Given the description of an element on the screen output the (x, y) to click on. 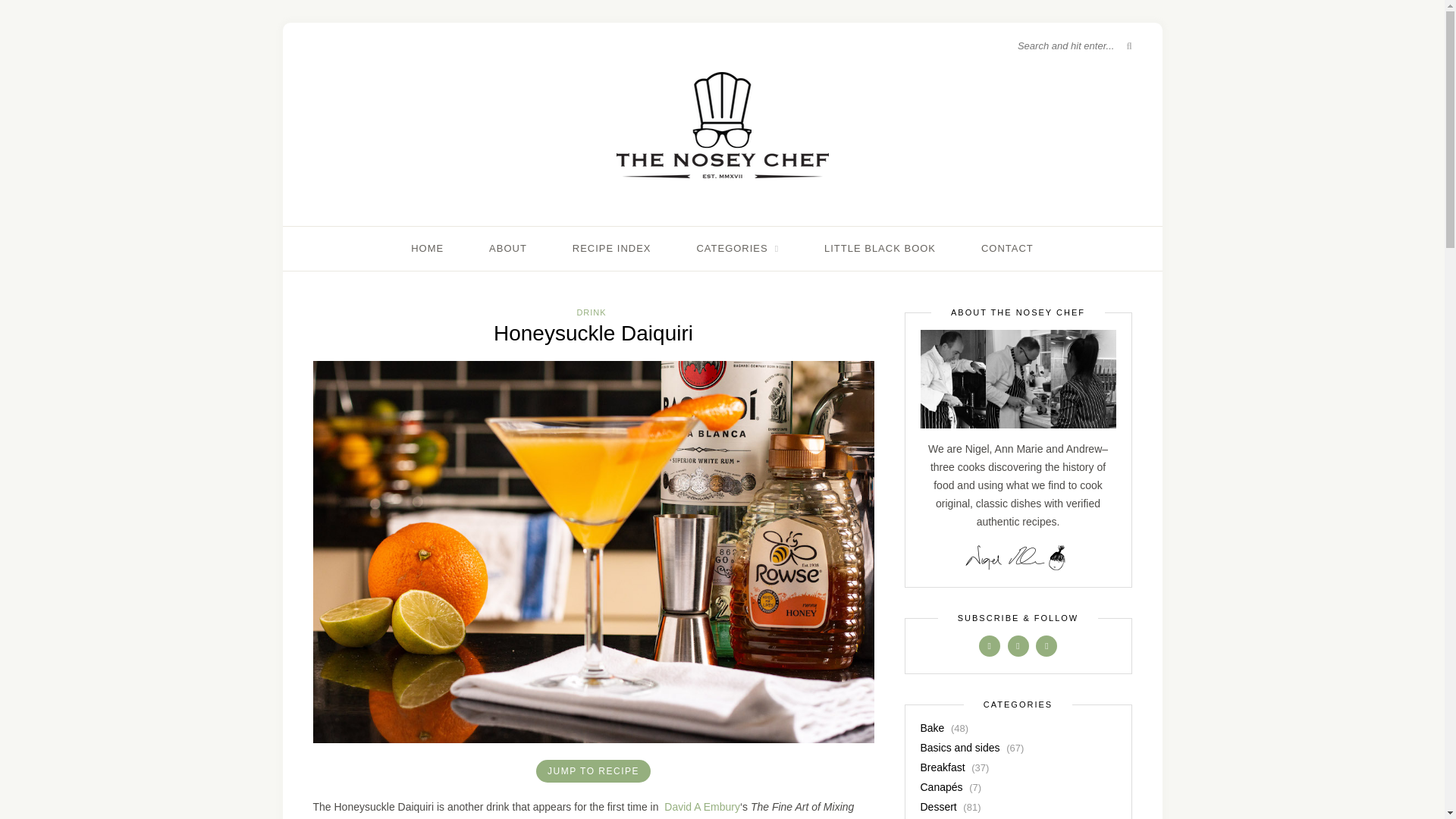
DRINK (590, 311)
CATEGORIES (736, 248)
RECIPE INDEX (611, 248)
LITTLE BLACK BOOK (880, 248)
CONTACT (1007, 248)
JUMP TO RECIPE (592, 771)
David A Embury (701, 806)
